Given the description of an element on the screen output the (x, y) to click on. 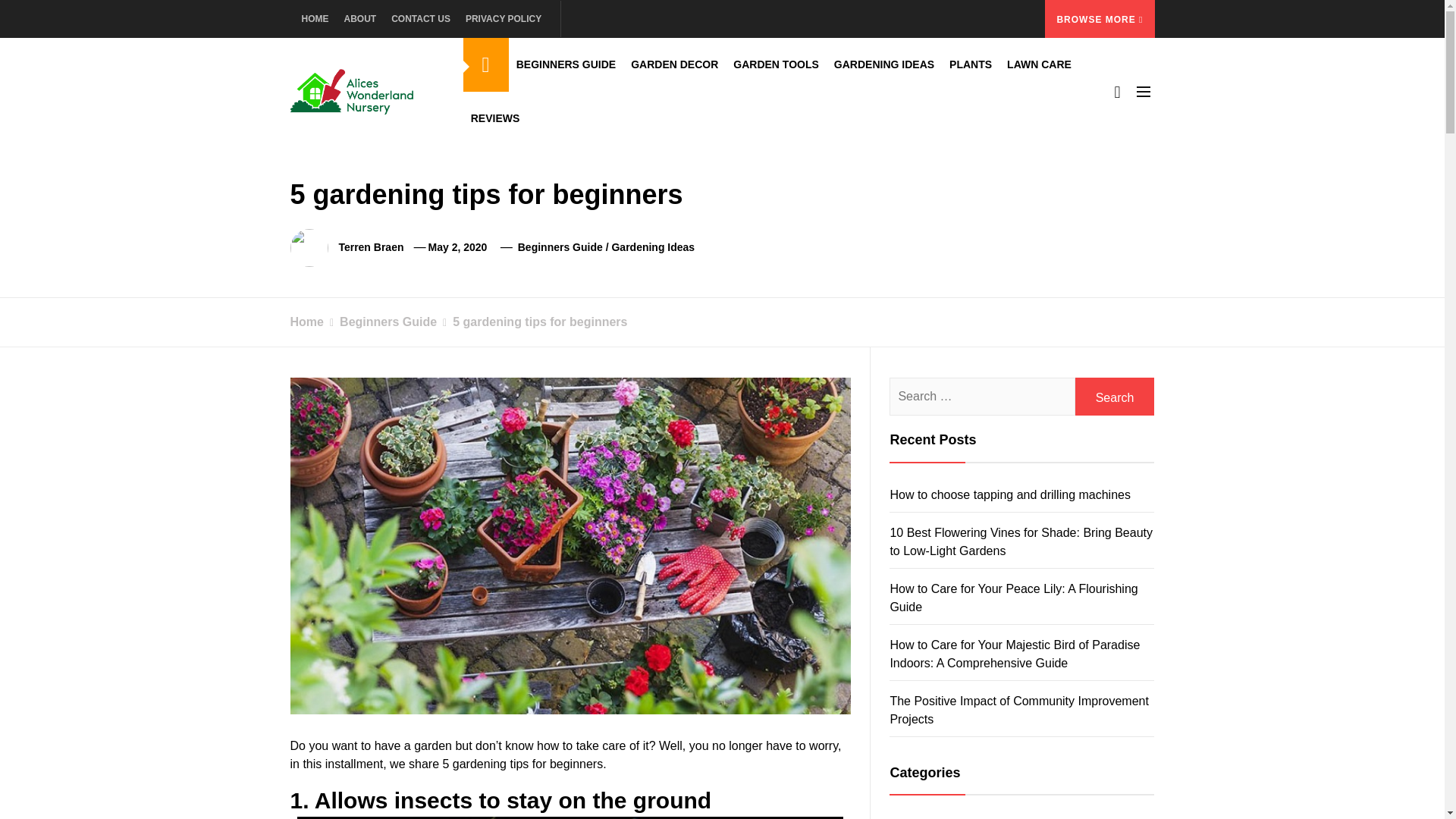
GARDEN TOOLS (776, 64)
Search (1114, 396)
Alices Wonderland Nursery (479, 131)
BROWSE MORE (1099, 18)
REVIEWS (495, 118)
PRIVACY POLICY (503, 18)
May 2, 2020 (457, 246)
BEGINNERS GUIDE (565, 64)
Home (306, 321)
HOME (318, 18)
LAWN CARE (1038, 64)
CONTACT US (421, 18)
PLANTS (970, 64)
Beginners Guide (560, 246)
